Given the description of an element on the screen output the (x, y) to click on. 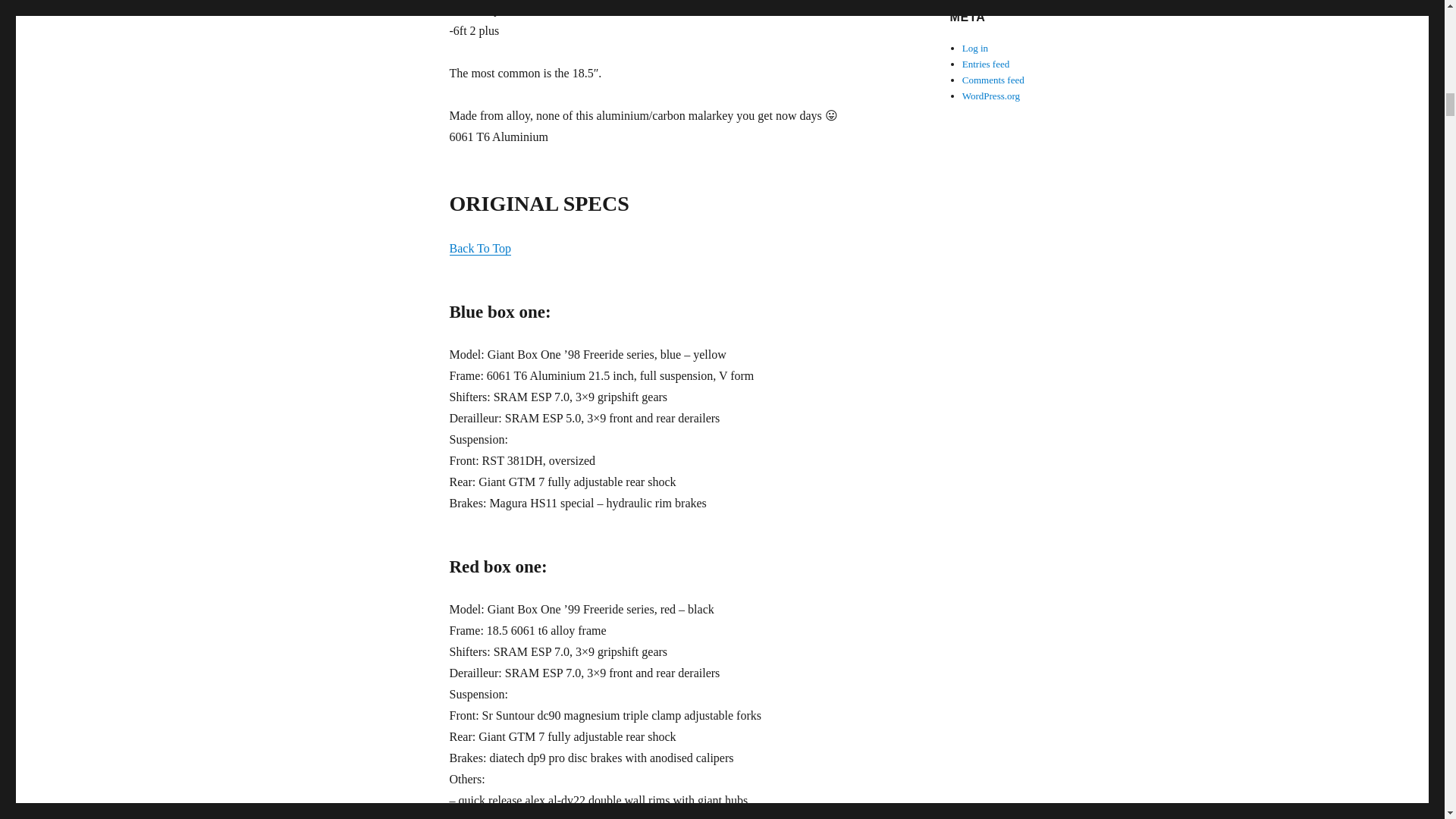
Back To Top (479, 247)
